Given the description of an element on the screen output the (x, y) to click on. 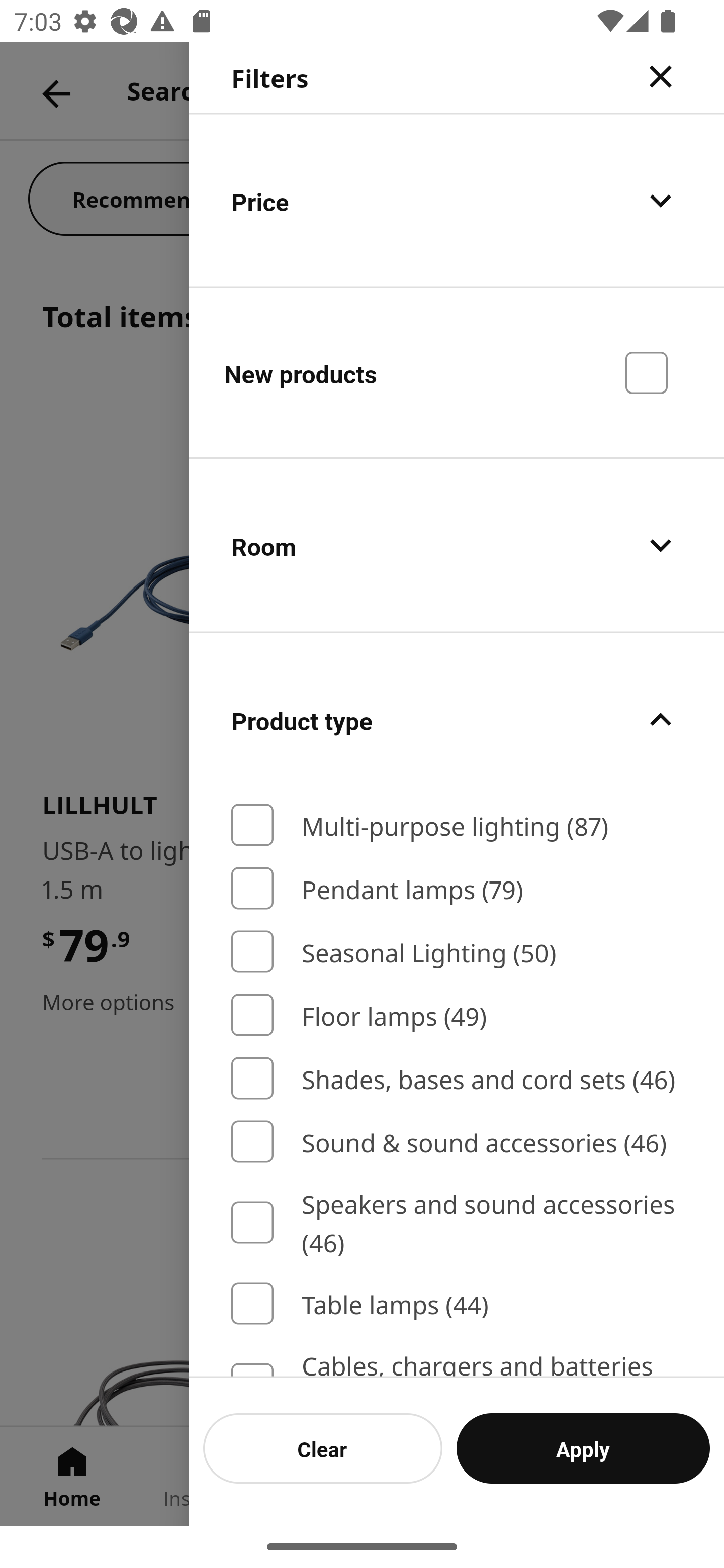
Price (456, 200)
New products (456, 371)
Room (456, 545)
Product type (456, 719)
Multi-purpose lighting (87) (456, 825)
Pendant lamps (79) (456, 888)
Seasonal Lighting (50) (456, 952)
Floor lamps (49) (456, 1015)
Shades, bases and cord sets (46) (456, 1077)
Sound & sound accessories (46) (456, 1142)
Speakers and sound accessories (46) (456, 1221)
Table lamps (44) (456, 1303)
Cables, chargers and batteries (35) (456, 1360)
Clear (322, 1447)
Apply (583, 1447)
